Given the description of an element on the screen output the (x, y) to click on. 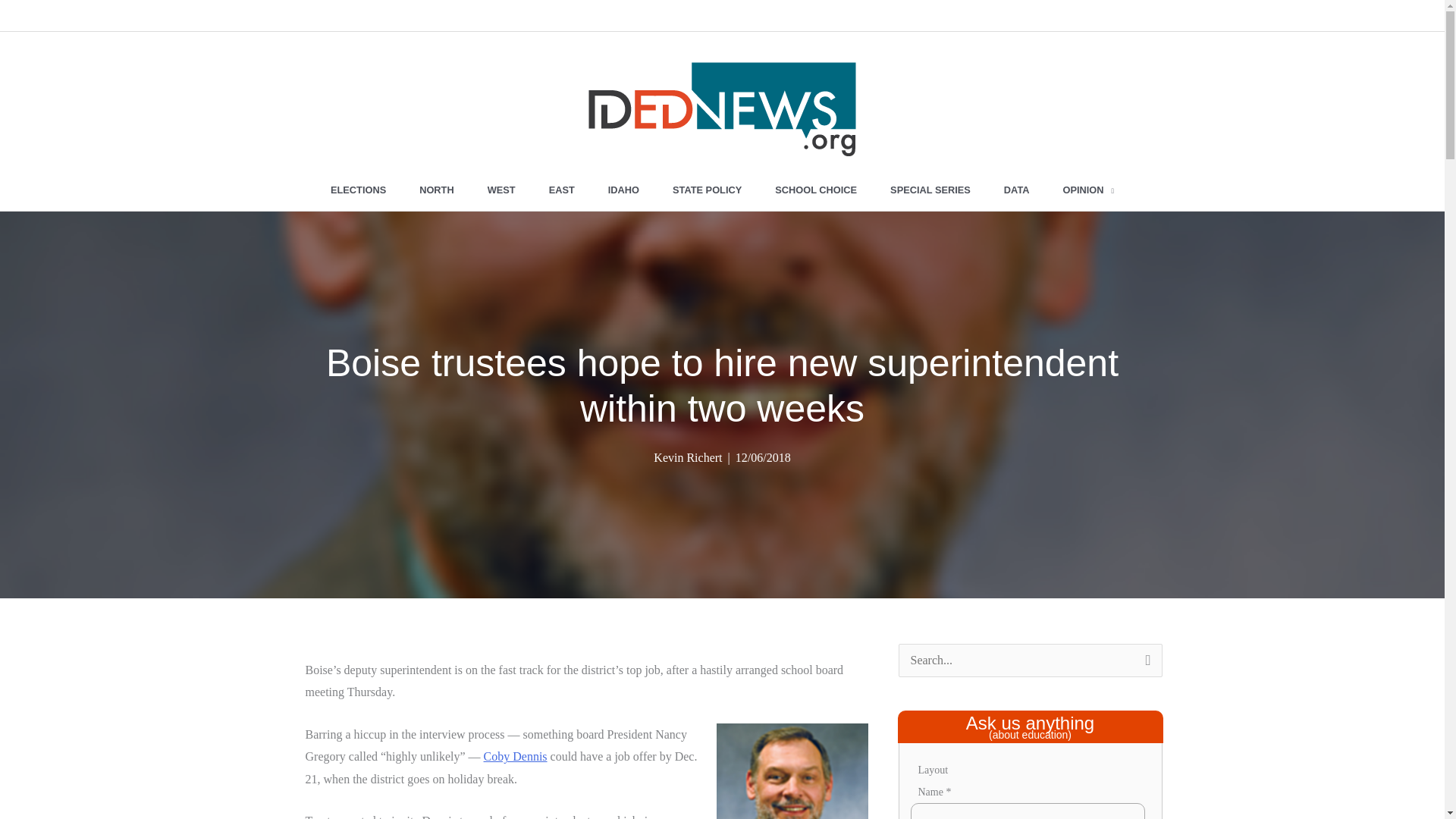
WEST (501, 189)
NORTH (436, 189)
SPECIAL SERIES (930, 189)
IDAHO (623, 189)
SCHOOL CHOICE (815, 189)
STATE POLICY (707, 189)
OPINION (1088, 189)
EAST (561, 189)
DATA (1016, 189)
ELECTIONS (358, 189)
